Given the description of an element on the screen output the (x, y) to click on. 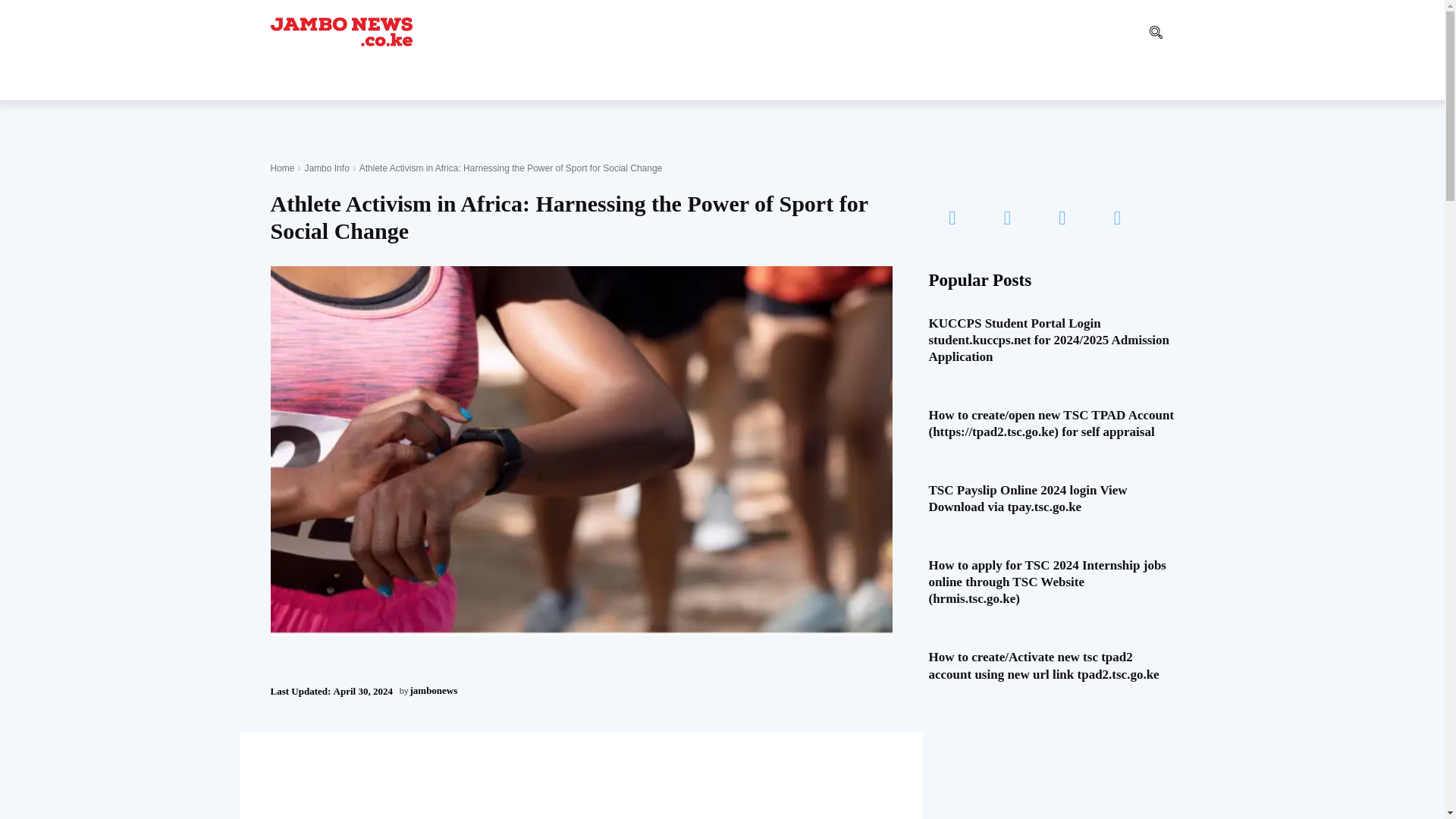
View all posts in Jambo Info (326, 167)
Your Ultimate information Hub (340, 31)
